Given the description of an element on the screen output the (x, y) to click on. 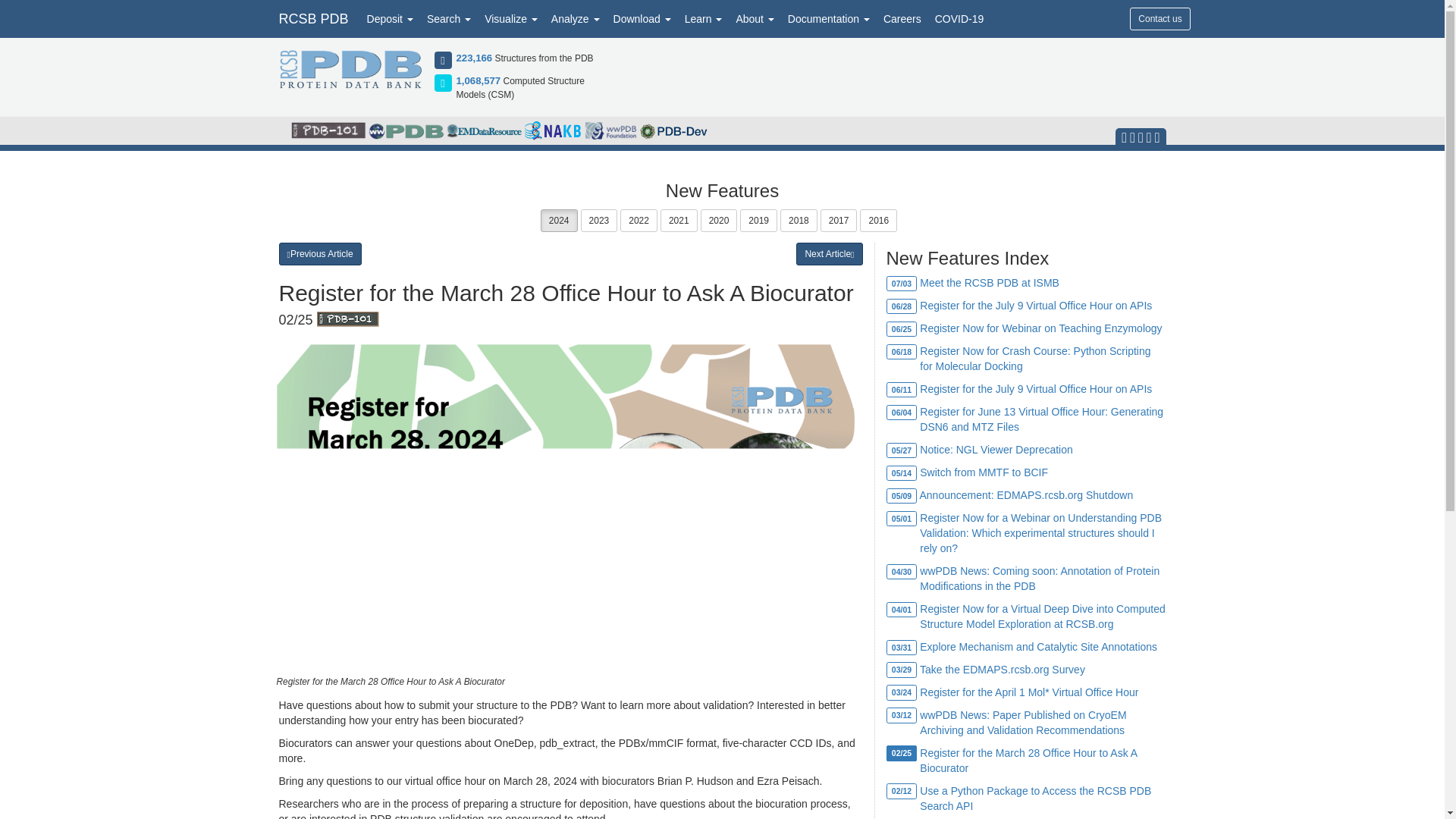
RCSB PDB (312, 18)
Deposit  (389, 18)
Analyze  (575, 18)
Search  (448, 18)
Visualize  (510, 18)
